Given the description of an element on the screen output the (x, y) to click on. 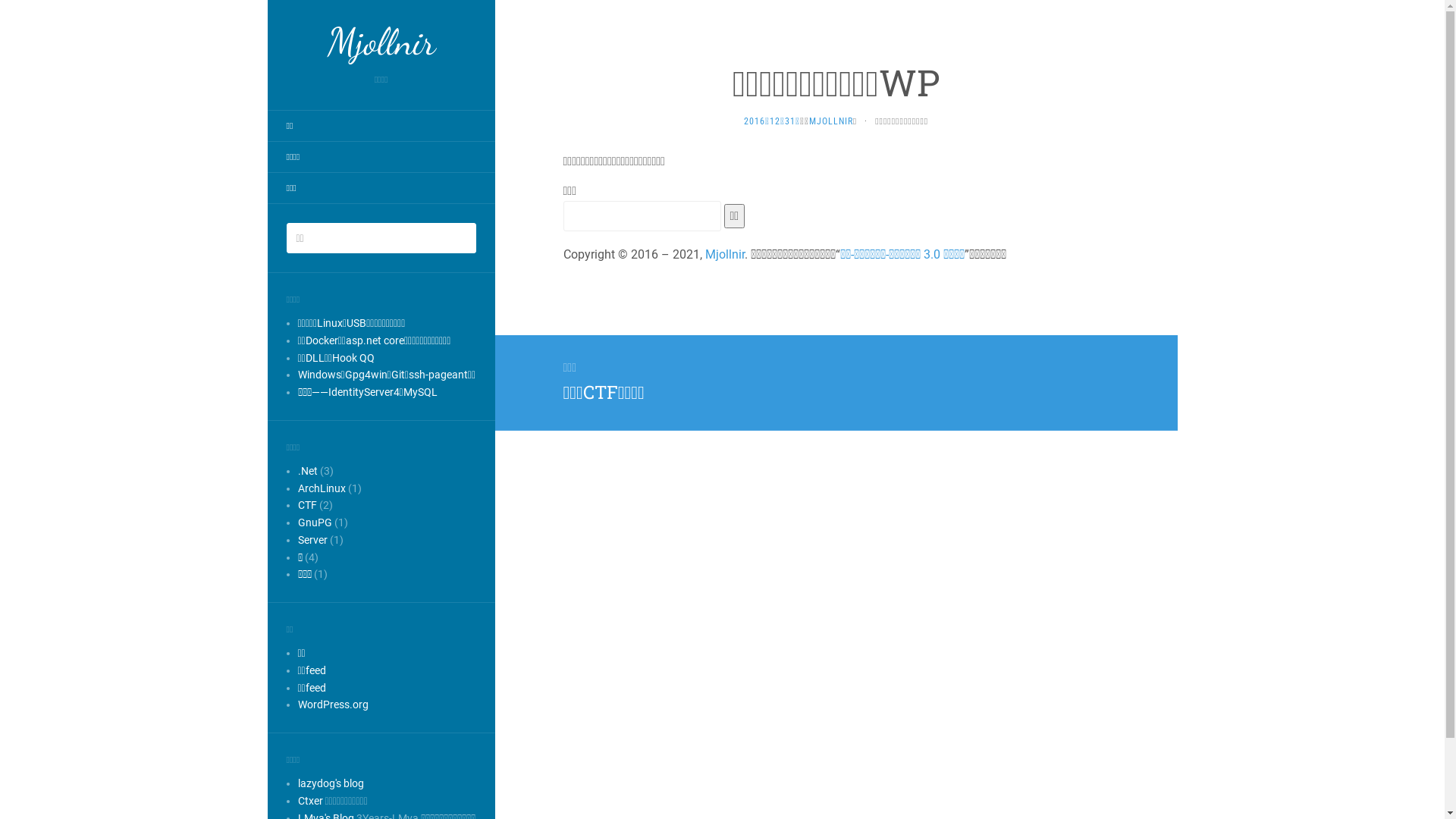
.Net Element type: text (306, 470)
ArchLinux Element type: text (321, 488)
Mjollnir Element type: text (724, 254)
WordPress.org Element type: text (332, 704)
GnuPG Element type: text (314, 522)
Mjollnir Element type: text (380, 41)
CTF Element type: text (306, 504)
lazydog's blog Element type: text (330, 783)
Server Element type: text (311, 539)
MJOLLNIR Element type: text (831, 121)
Ctxer Element type: text (309, 800)
